Given the description of an element on the screen output the (x, y) to click on. 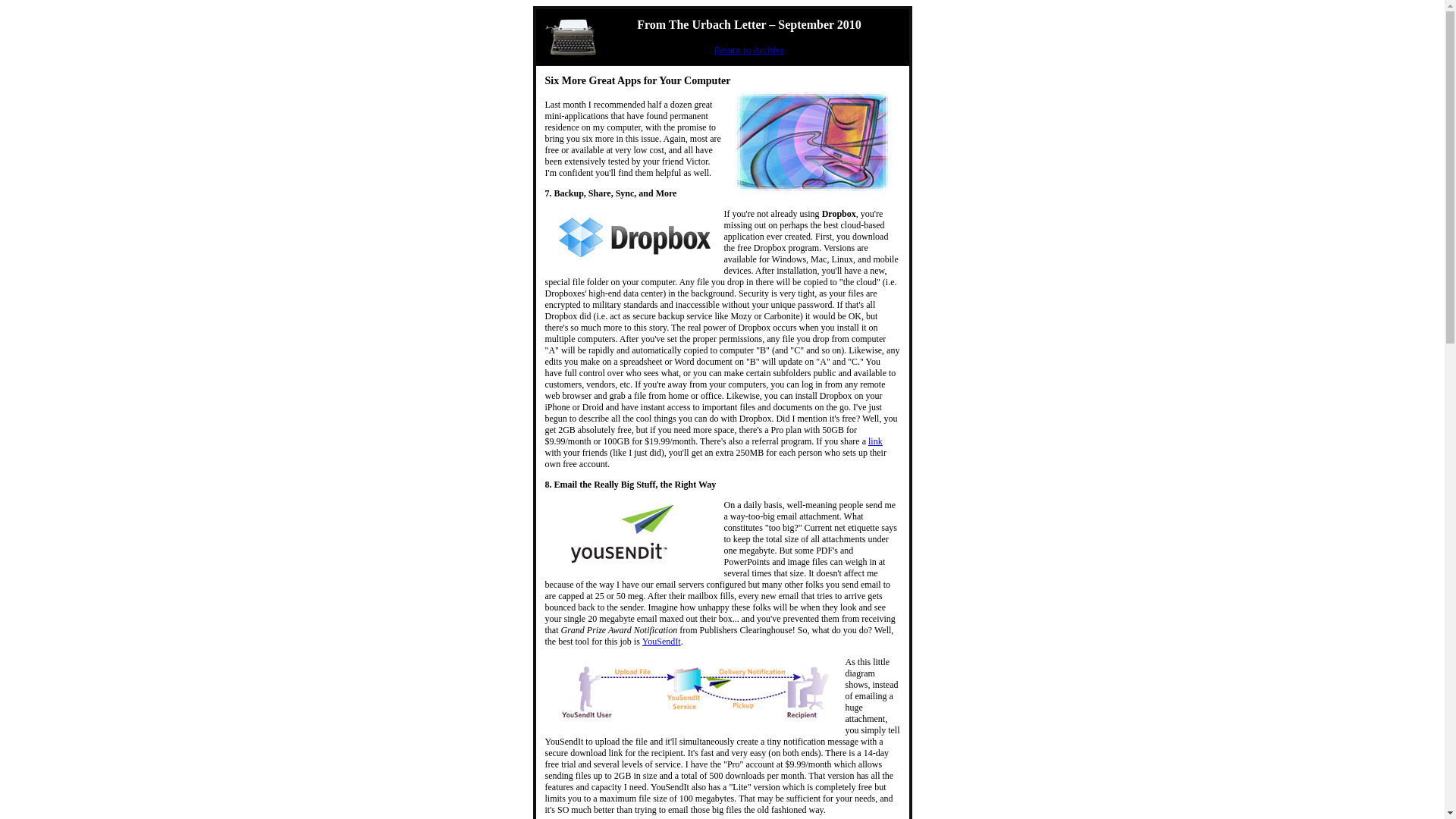
YouSendIt (661, 641)
link (874, 440)
Return to Archive (748, 49)
